Given the description of an element on the screen output the (x, y) to click on. 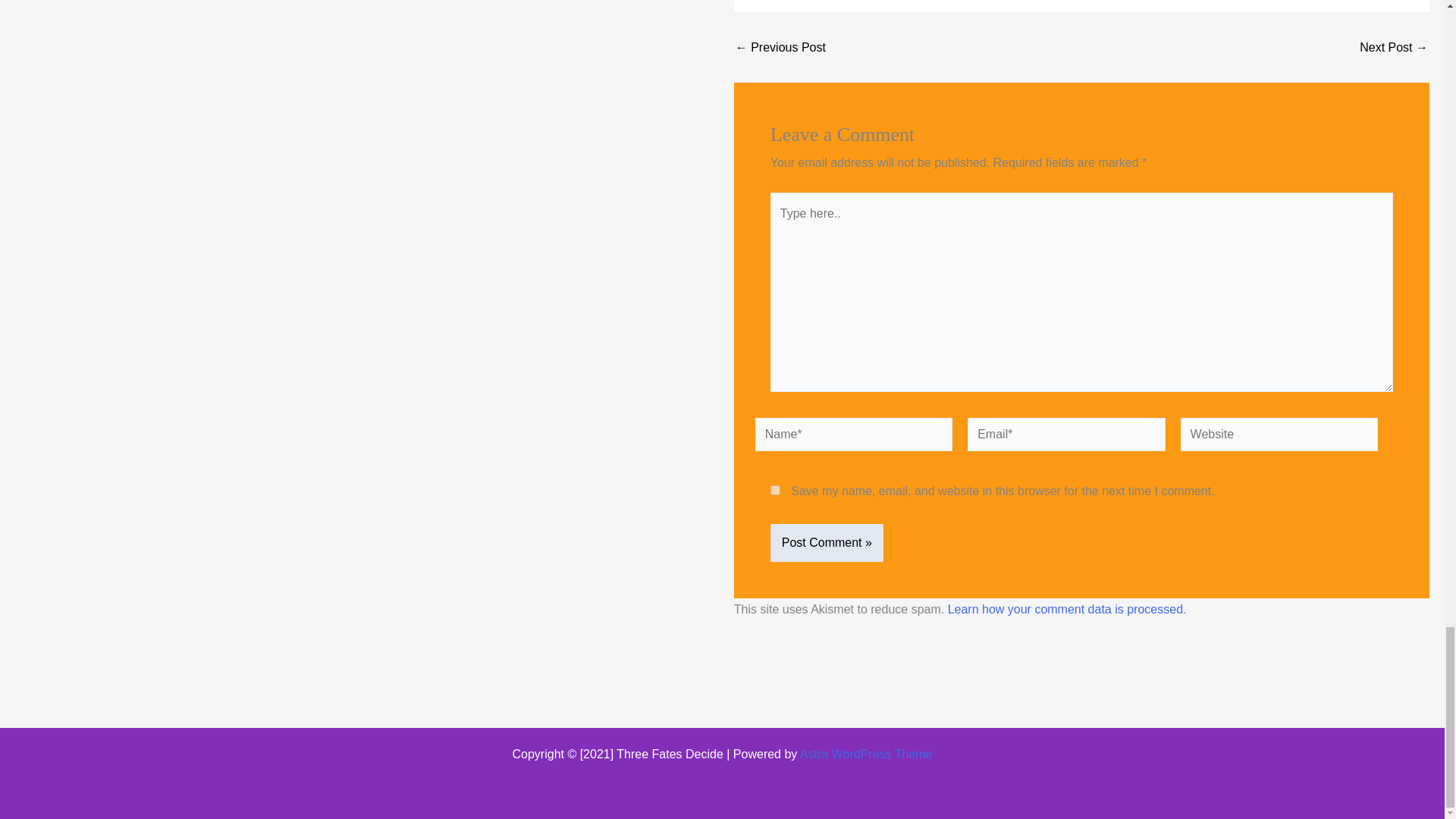
yes (775, 490)
Christmas 2021 Special (1393, 46)
Astra WordPress Theme (866, 753)
Learn how your comment data is processed (1064, 608)
